Given the description of an element on the screen output the (x, y) to click on. 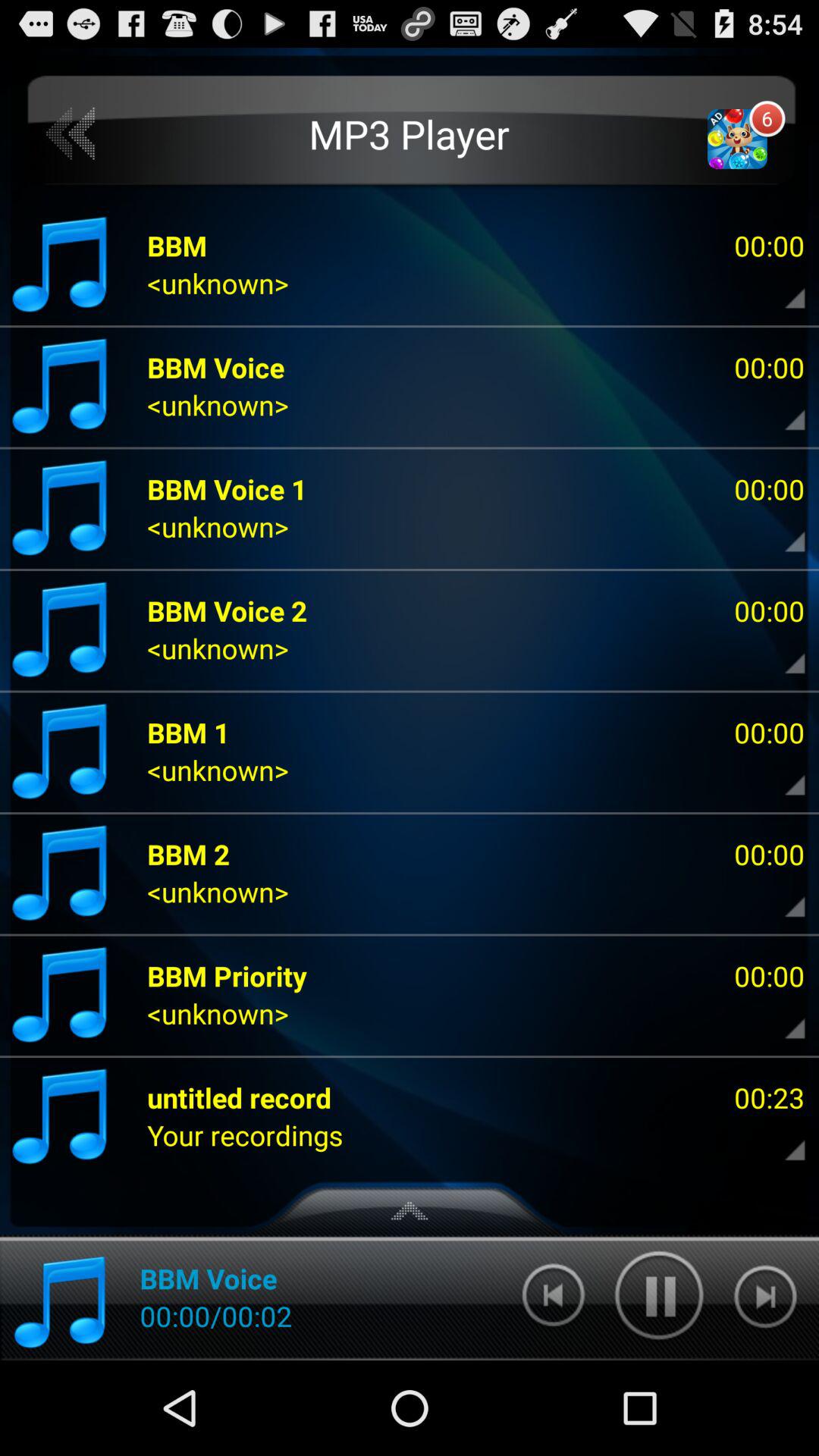
share (782, 774)
